Given the description of an element on the screen output the (x, y) to click on. 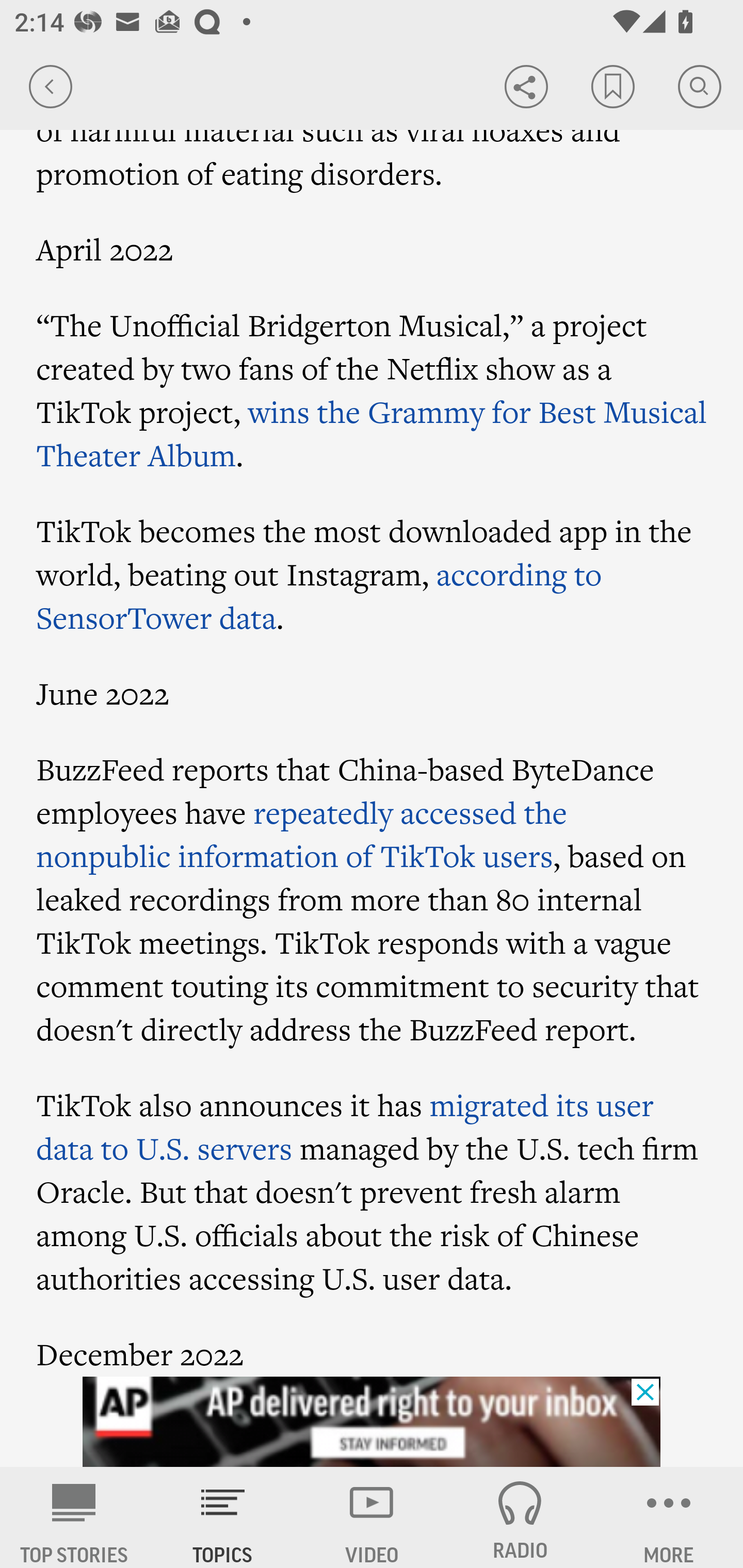
wins the Grammy for Best Musical Theater Album (372, 432)
according to SensorTower data (319, 594)
migrated its user data to U.S. servers (345, 1125)
AP News TOP STORIES (74, 1517)
TOPICS (222, 1517)
VIDEO (371, 1517)
RADIO (519, 1517)
MORE (668, 1517)
